Given the description of an element on the screen output the (x, y) to click on. 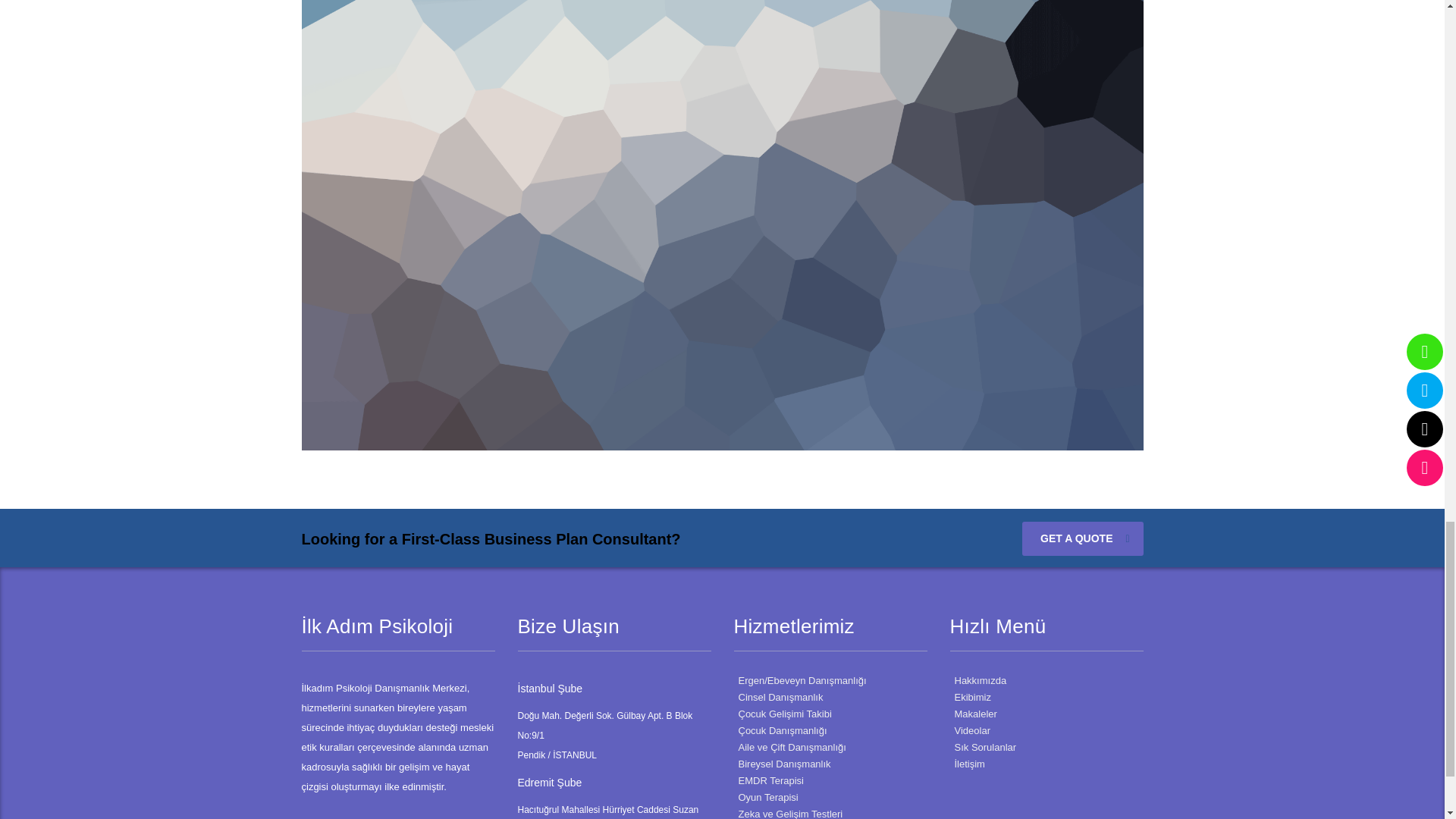
GET A QUOTE (1082, 538)
